Given the description of an element on the screen output the (x, y) to click on. 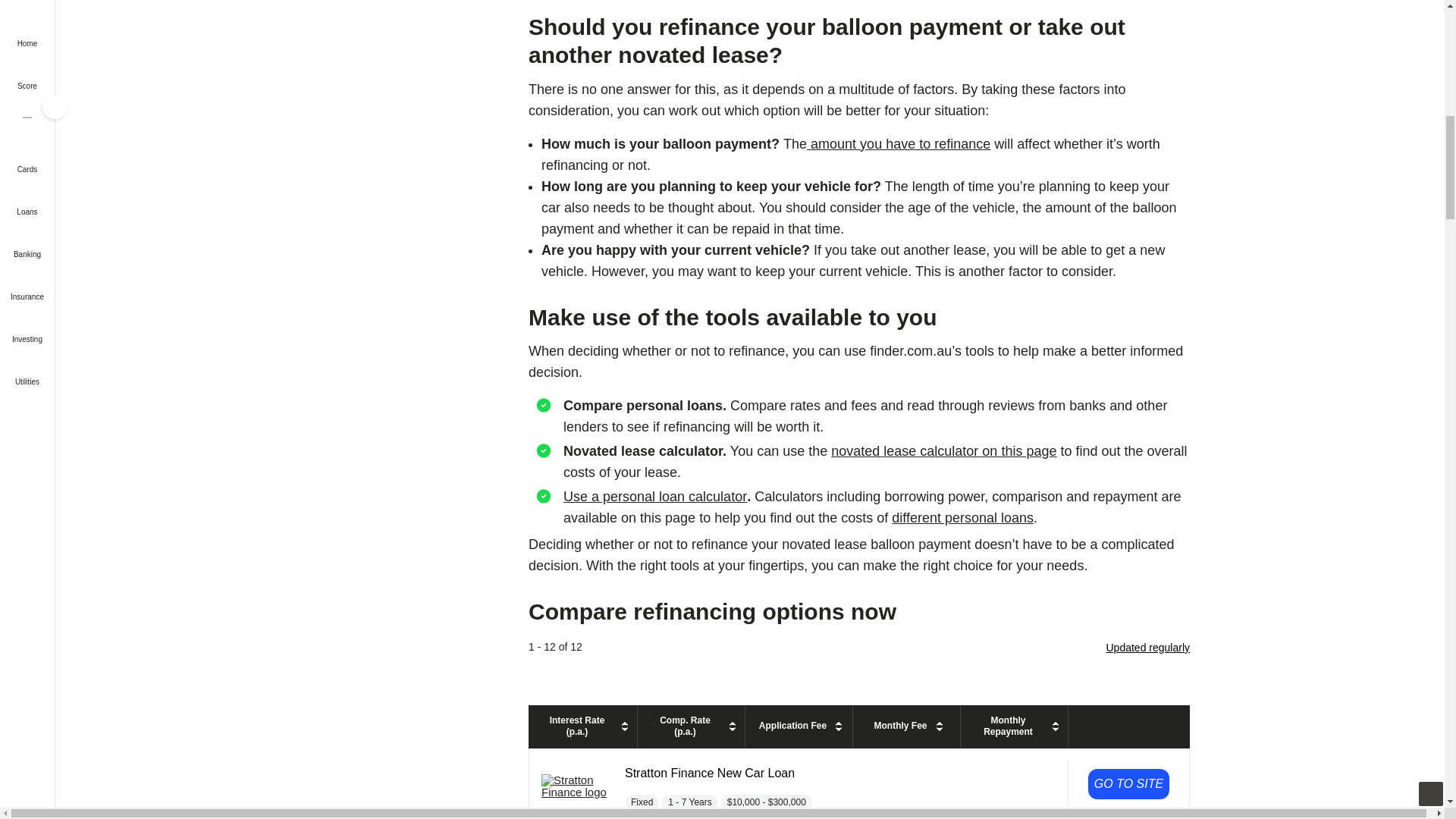
Compare personal loans from a range of brands (962, 517)
Apply Now For The Stratton Finance New Car Loan (1128, 784)
